Given the description of an element on the screen output the (x, y) to click on. 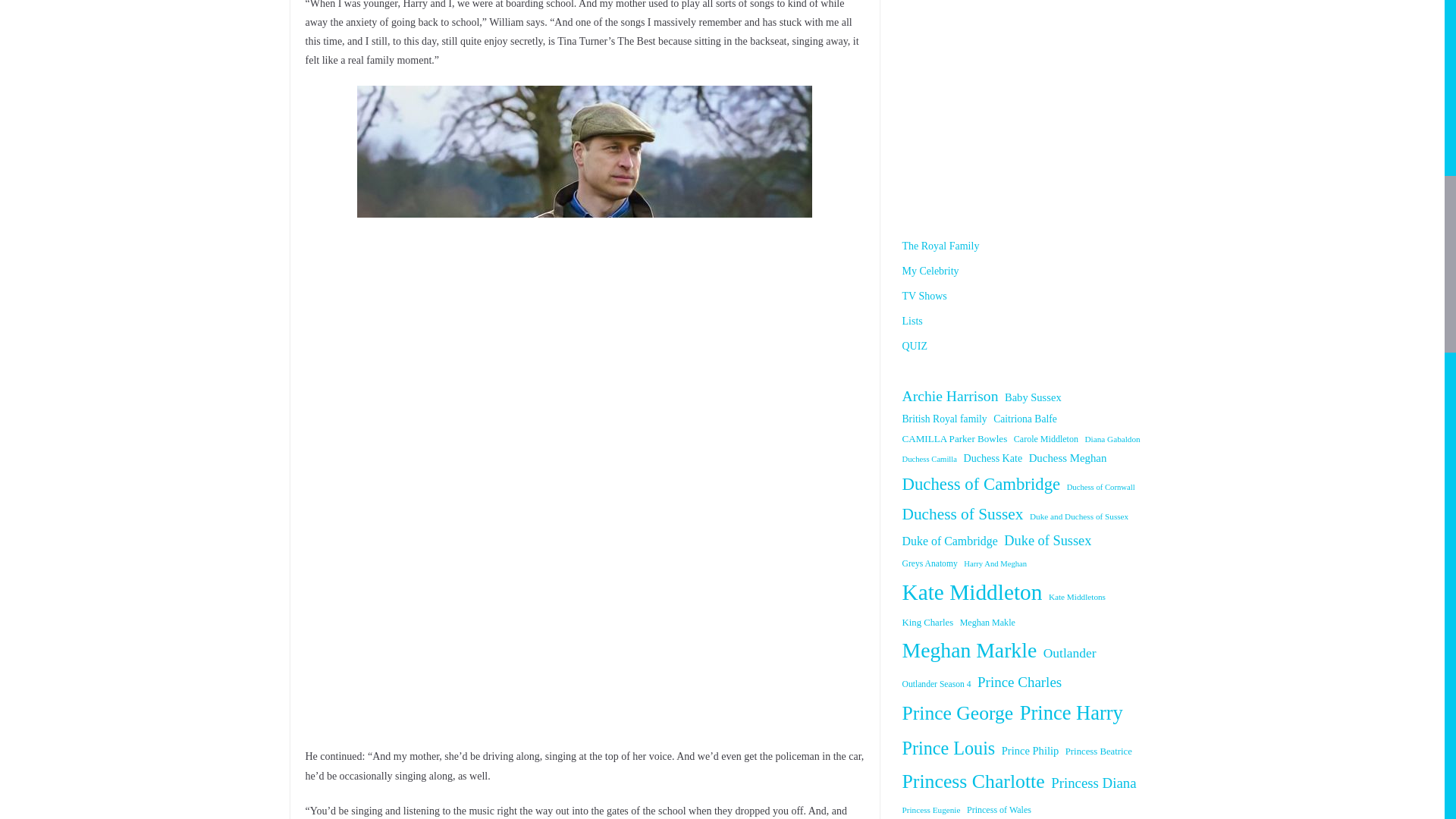
Duchess Kate (993, 457)
Baby Sussex (1032, 397)
Duchess Meghan (1067, 457)
Duchess of Cornwall (1101, 486)
QUIZ (914, 346)
The Royal Family (940, 245)
My Celebrity (930, 270)
CAMILLA Parker Bowles (954, 438)
Carole Middleton (1045, 439)
Lists (912, 320)
TV Shows (924, 296)
The Celebrity Castle (1028, 101)
British Royal family (944, 419)
Caitriona Balfe (1024, 419)
Duchess Camilla (930, 459)
